Given the description of an element on the screen output the (x, y) to click on. 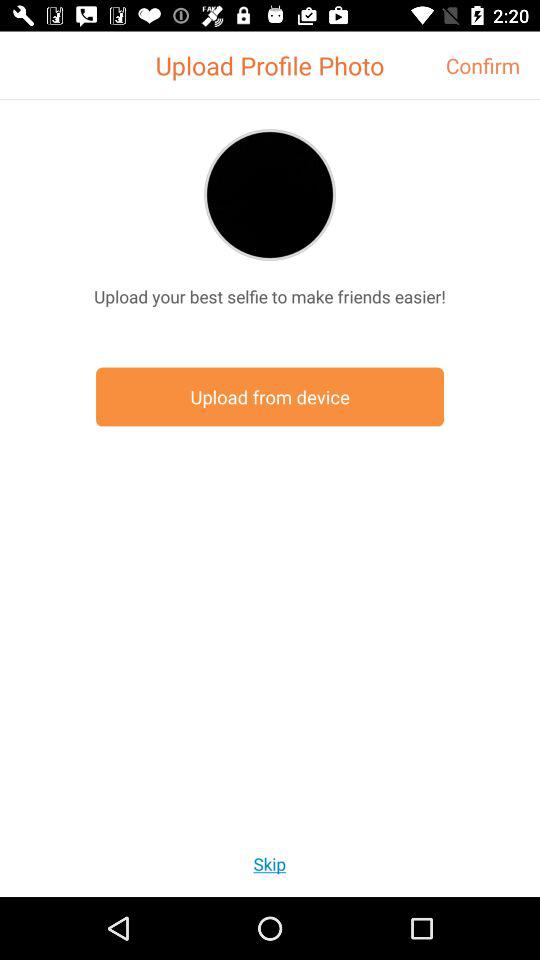
tap icon below the upload your best item (270, 396)
